Given the description of an element on the screen output the (x, y) to click on. 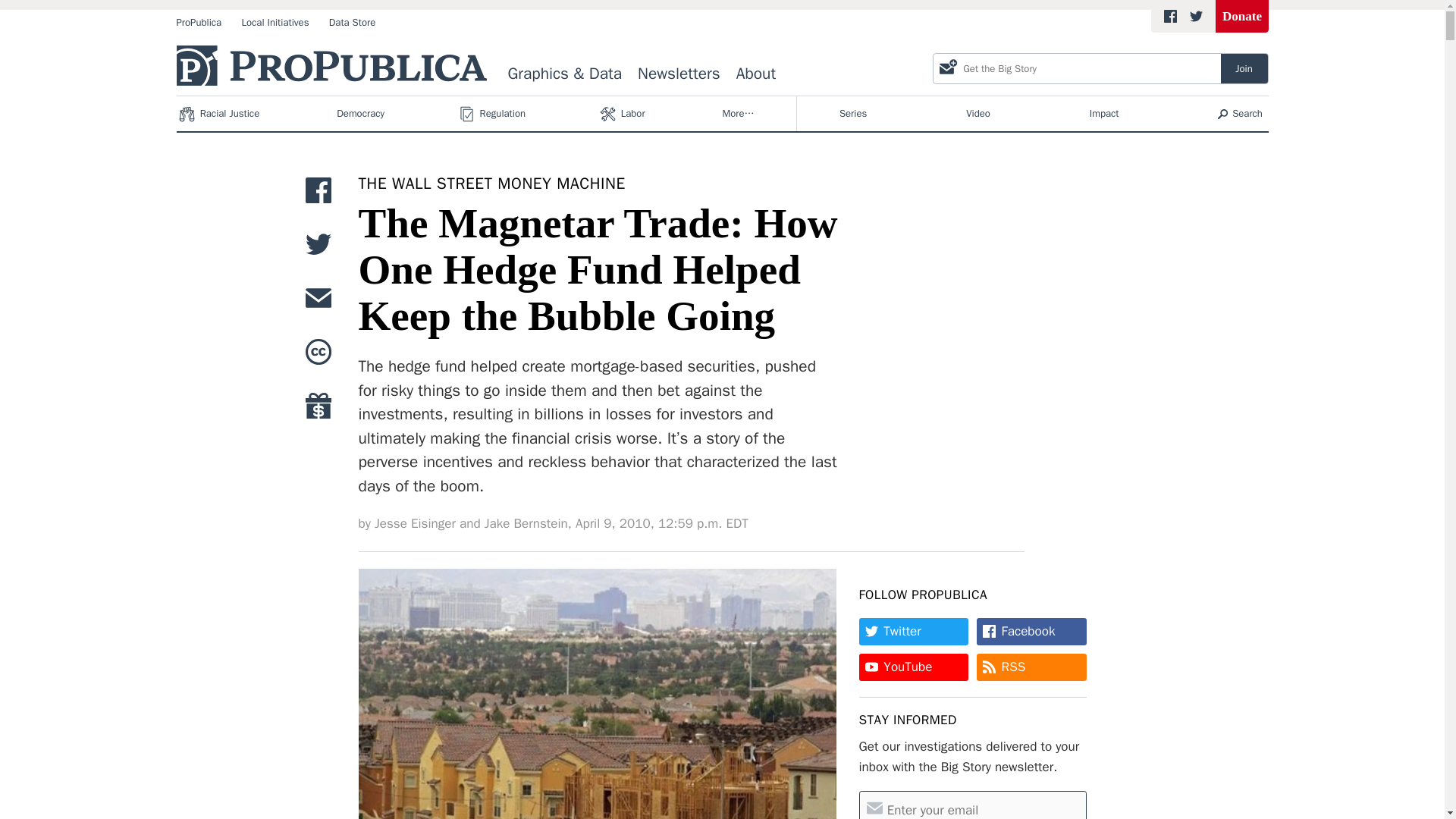
Series (852, 113)
Join (1244, 68)
ProPublica (198, 22)
Racial Justice (220, 113)
Regulation (493, 113)
Search (1240, 113)
Donate (1241, 16)
Jesse Eisinger (414, 523)
Rich Site Summary (1013, 666)
Local Initiatives (274, 22)
